Given the description of an element on the screen output the (x, y) to click on. 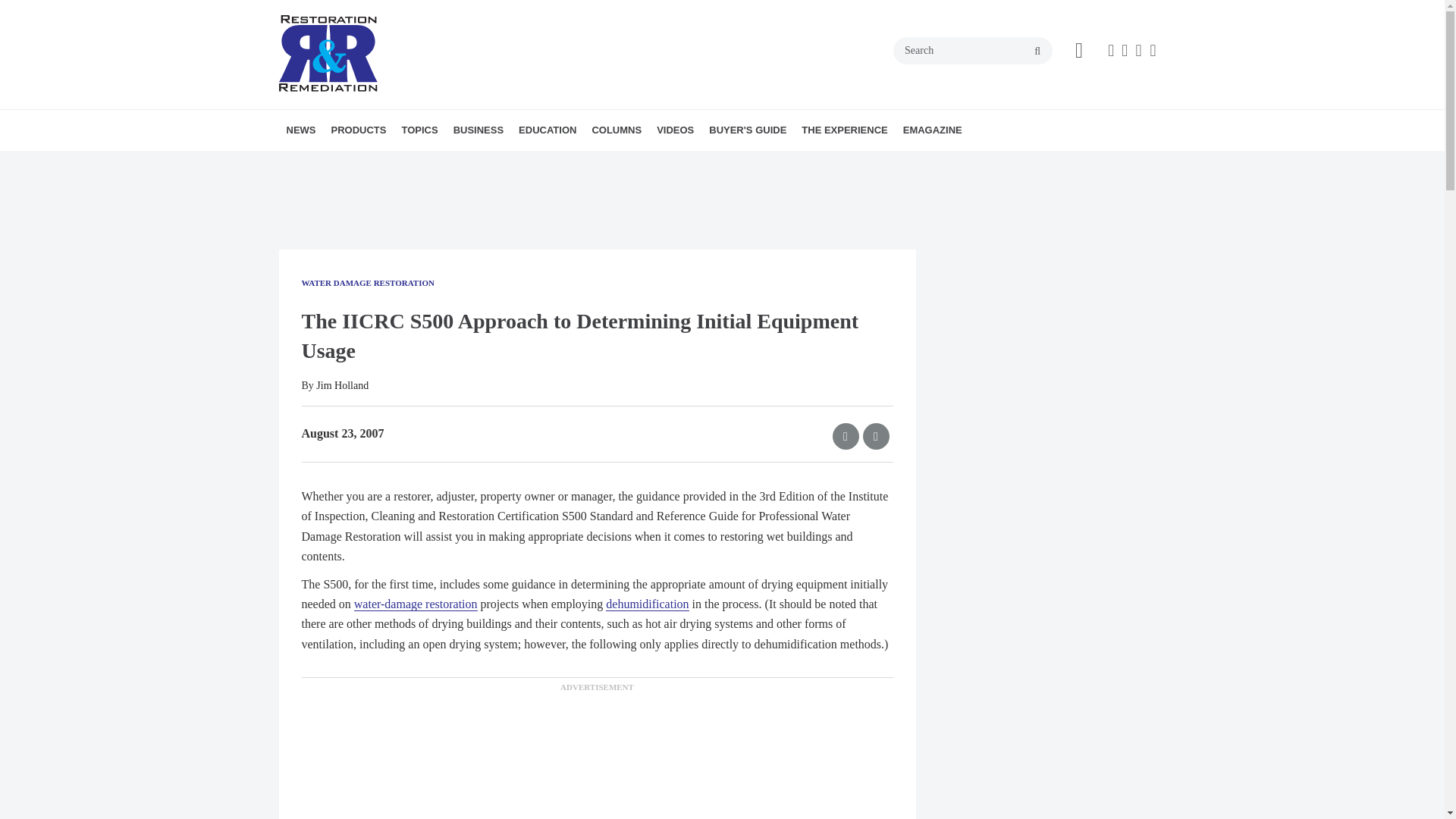
Search (972, 50)
Search (972, 50)
HOW TO (605, 163)
CLEANING (522, 163)
CATASTROPHE (519, 163)
BUSINESS (478, 129)
COLUMNS (616, 129)
EDUCATION (547, 129)
MANAGING YOUR BUSINESS (539, 163)
SUBMIT YOUR PRODUCT (429, 163)
